Given the description of an element on the screen output the (x, y) to click on. 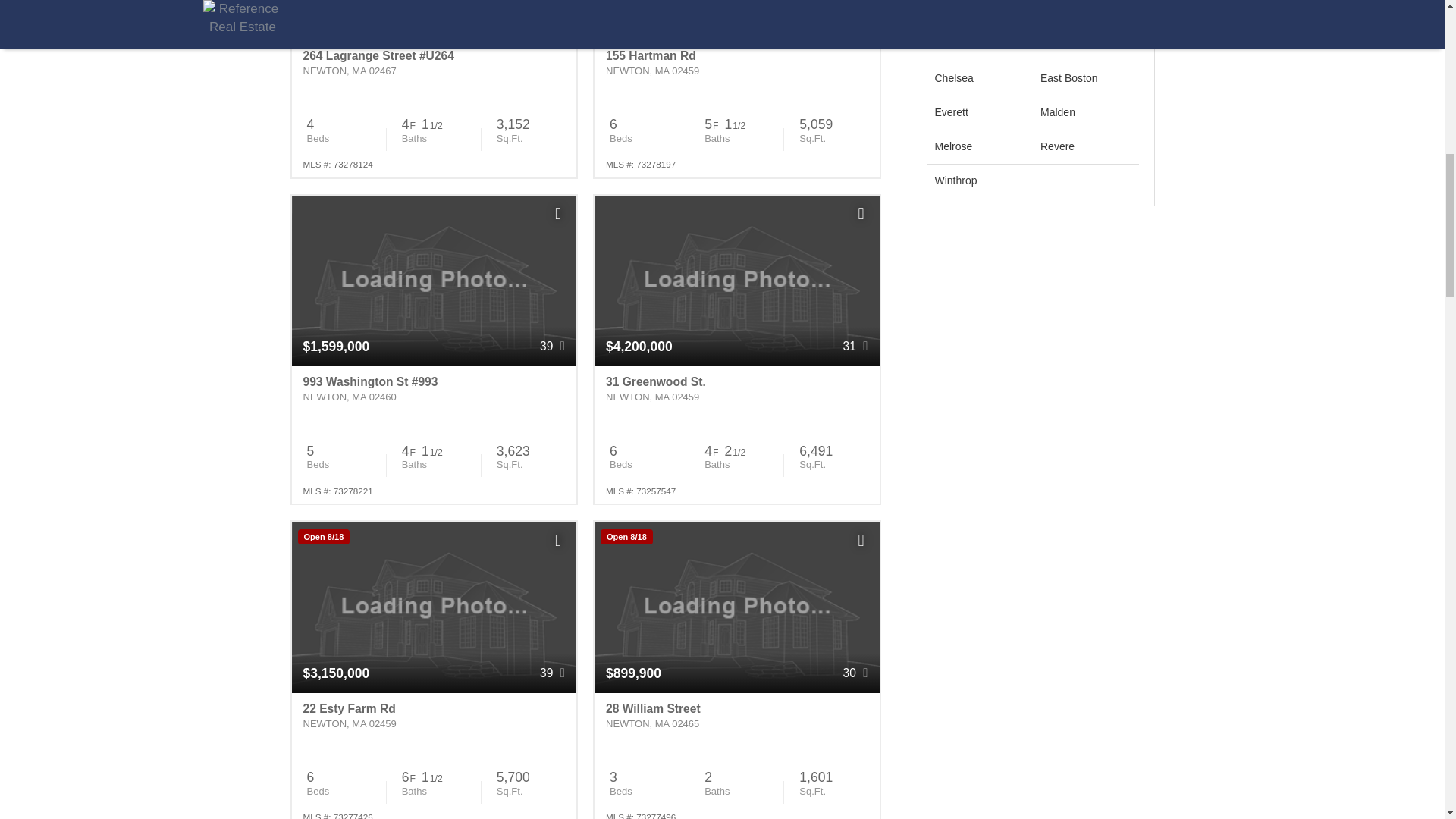
155 Hartman Rd Newton,  MA 02459 (736, 63)
22 Esty Farm Rd Newton,  MA 02459 (433, 716)
31 Greenwood St. Newton,  MA 02459 (736, 389)
28 William Street Newton,  MA 02465 (736, 716)
